Given the description of an element on the screen output the (x, y) to click on. 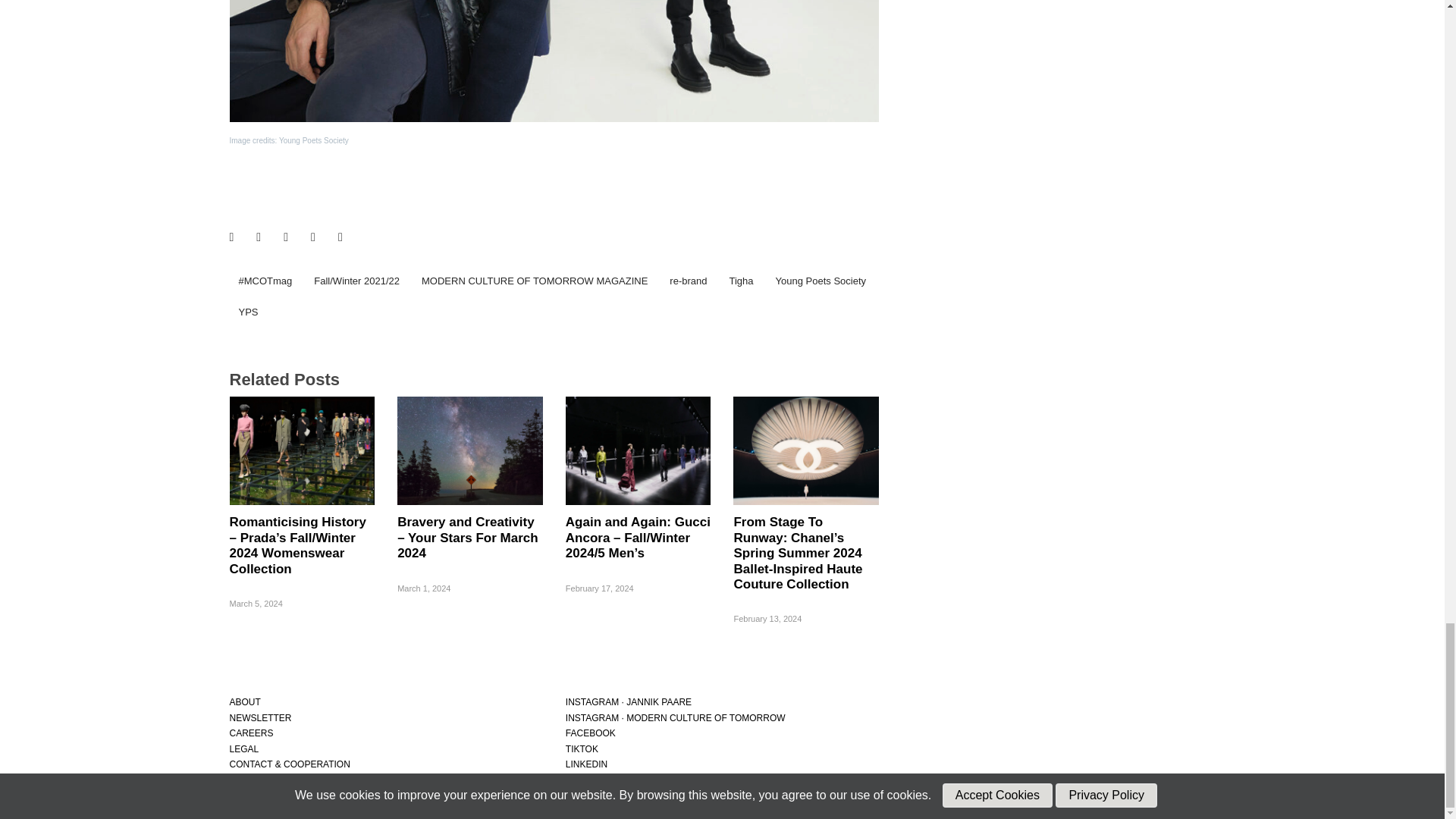
MODERN CULTURE OF TOMORROW MAGAZINE (534, 280)
re-brand (688, 280)
Tigha (740, 280)
